Given the description of an element on the screen output the (x, y) to click on. 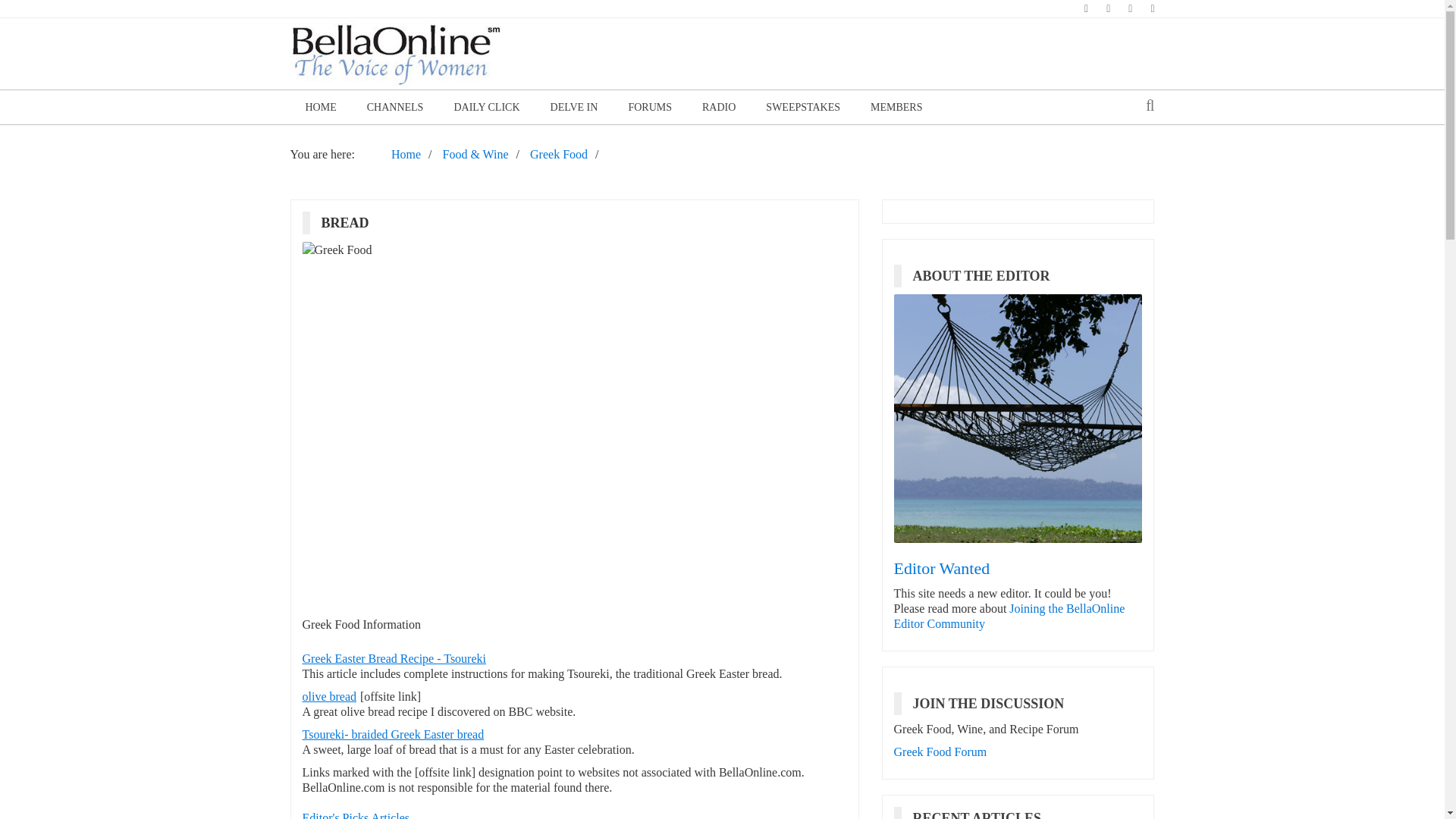
CHANNELS (395, 107)
DELVE IN (573, 107)
RADIO (719, 107)
HOME (319, 107)
SWEEPSTAKES (803, 107)
FORUMS (649, 107)
DAILY CLICK (486, 107)
